Given the description of an element on the screen output the (x, y) to click on. 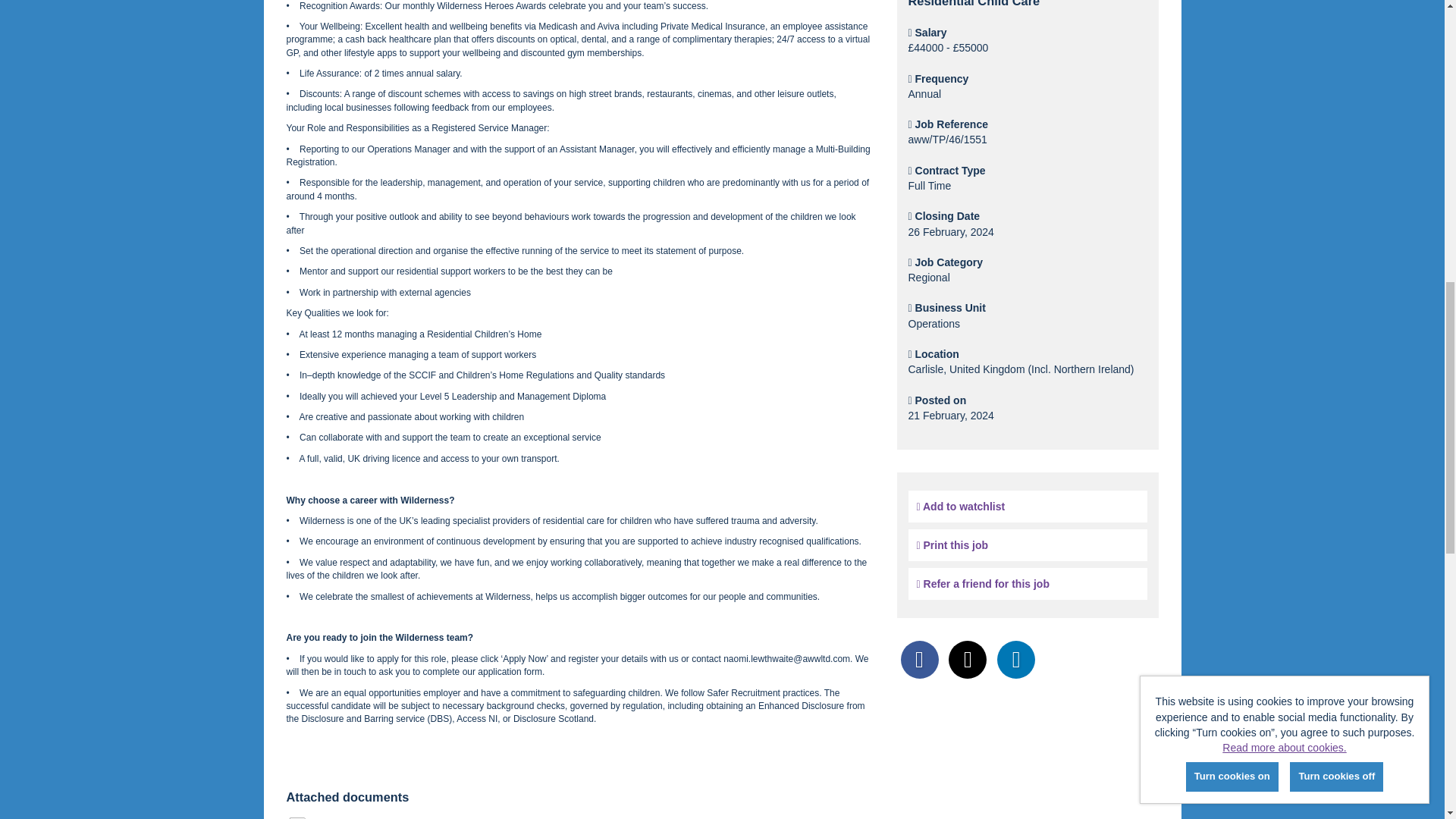
Add to watchlist (1027, 506)
Refer a friend for this job (1027, 583)
Print this job (1027, 545)
